Given the description of an element on the screen output the (x, y) to click on. 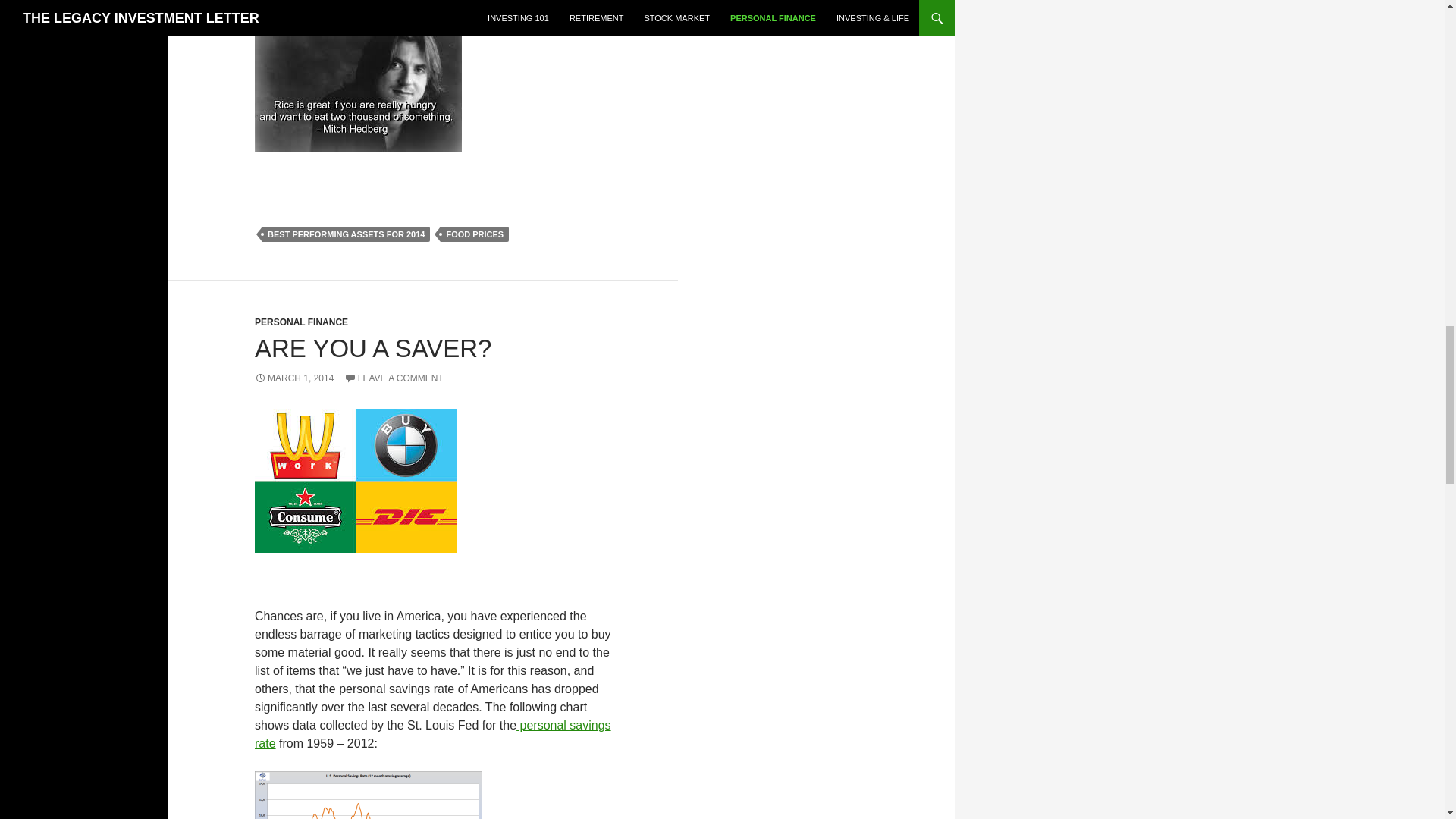
personal savings rate (432, 734)
MARCH 1, 2014 (293, 378)
PERSONAL FINANCE (300, 321)
BEST PERFORMING ASSETS FOR 2014 (345, 233)
LEAVE A COMMENT (393, 378)
FOOD PRICES (474, 233)
ARE YOU A SAVER? (373, 348)
